Given the description of an element on the screen output the (x, y) to click on. 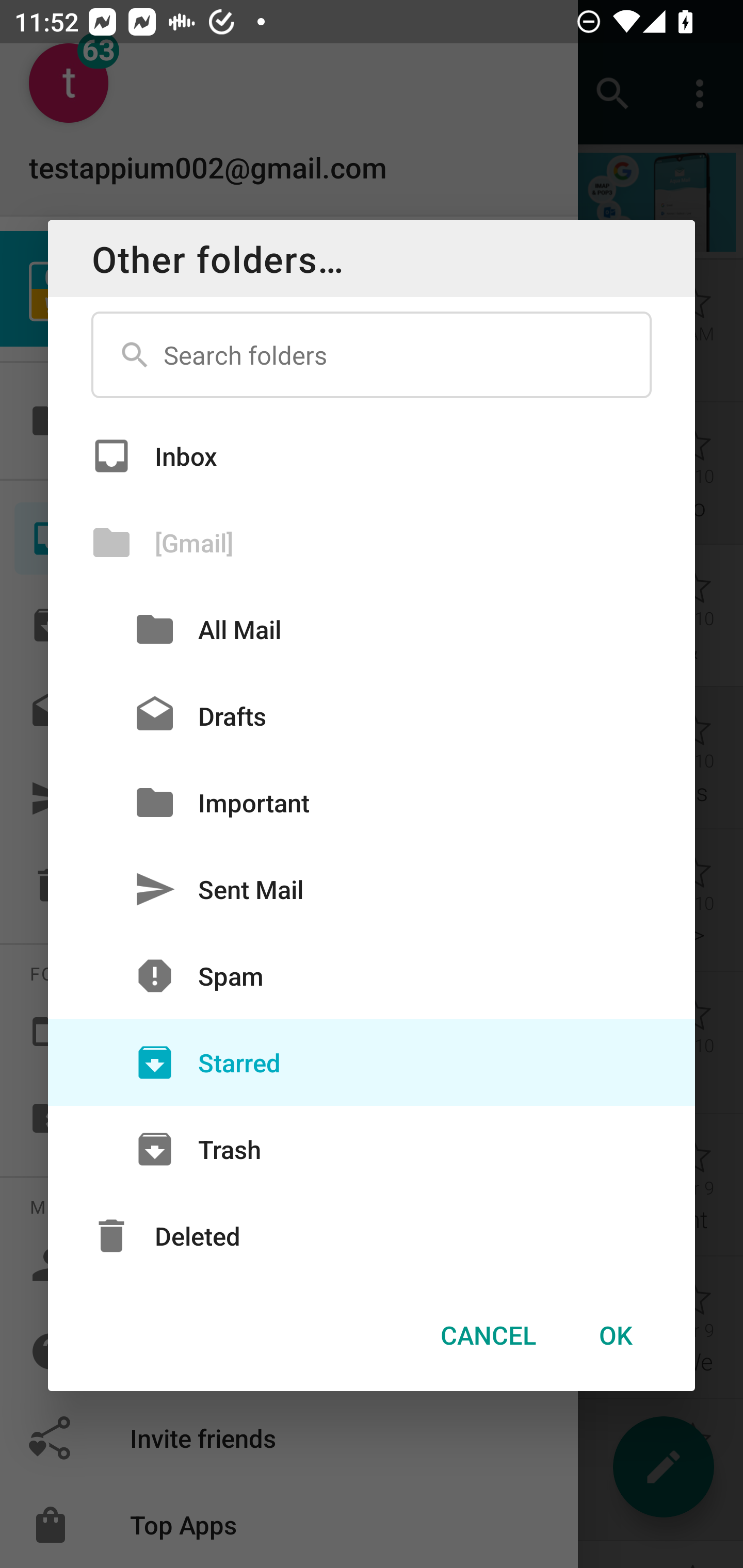
Inbox (371, 455)
All Mail (371, 629)
Drafts (371, 715)
Important (371, 801)
Sent Mail (371, 888)
Spam (371, 975)
Starred (371, 1062)
Trash (371, 1149)
Deleted (371, 1236)
CANCEL (488, 1334)
OK (615, 1334)
